Given the description of an element on the screen output the (x, y) to click on. 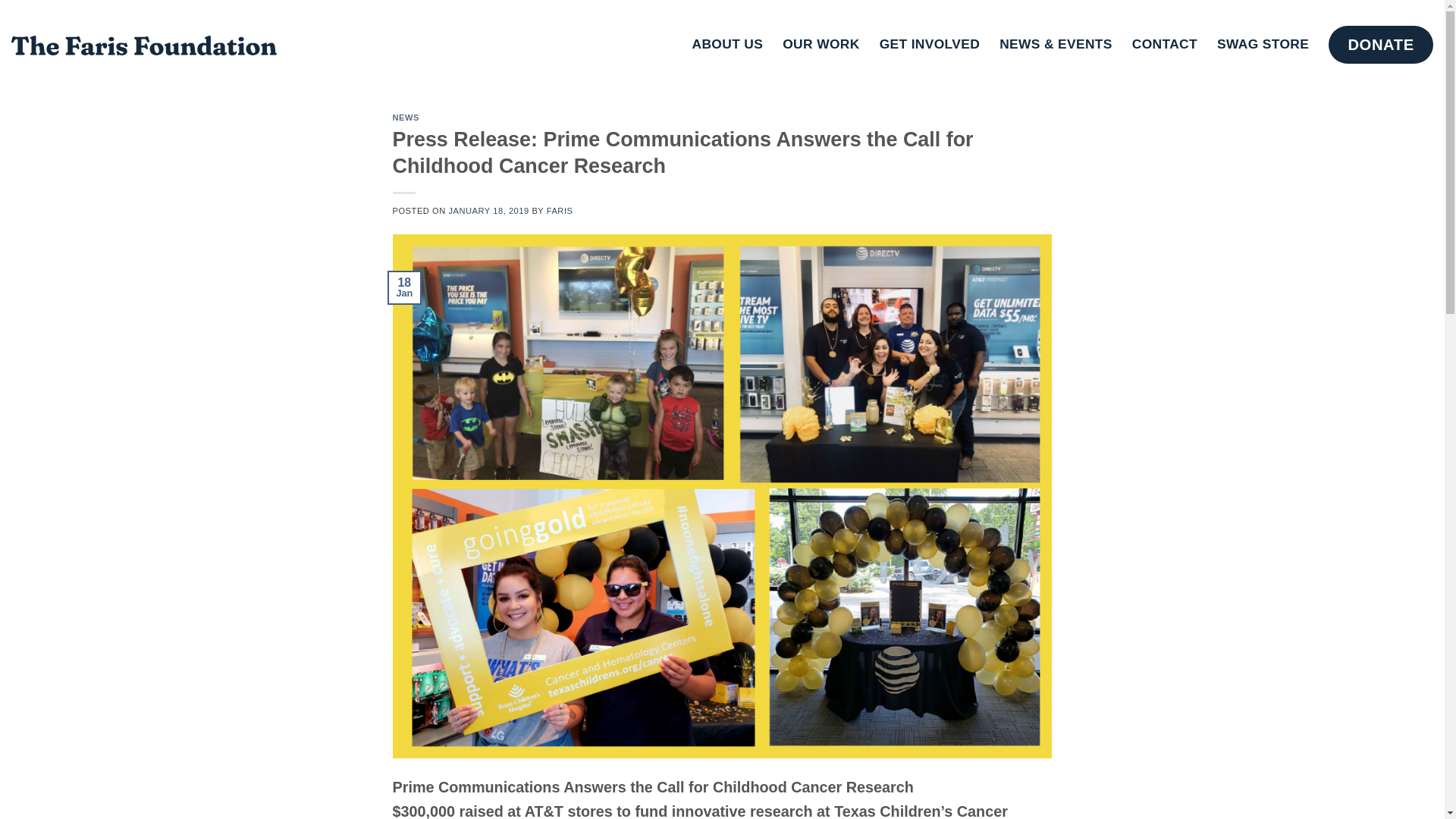
ABOUT US (727, 43)
FARIS (560, 210)
GET INVOLVED (929, 43)
JANUARY 18, 2019 (488, 210)
OUR WORK (821, 43)
NEWS (406, 117)
SWAG STORE (1262, 43)
CONTACT (1164, 43)
DONATE (1379, 44)
